Given the description of an element on the screen output the (x, y) to click on. 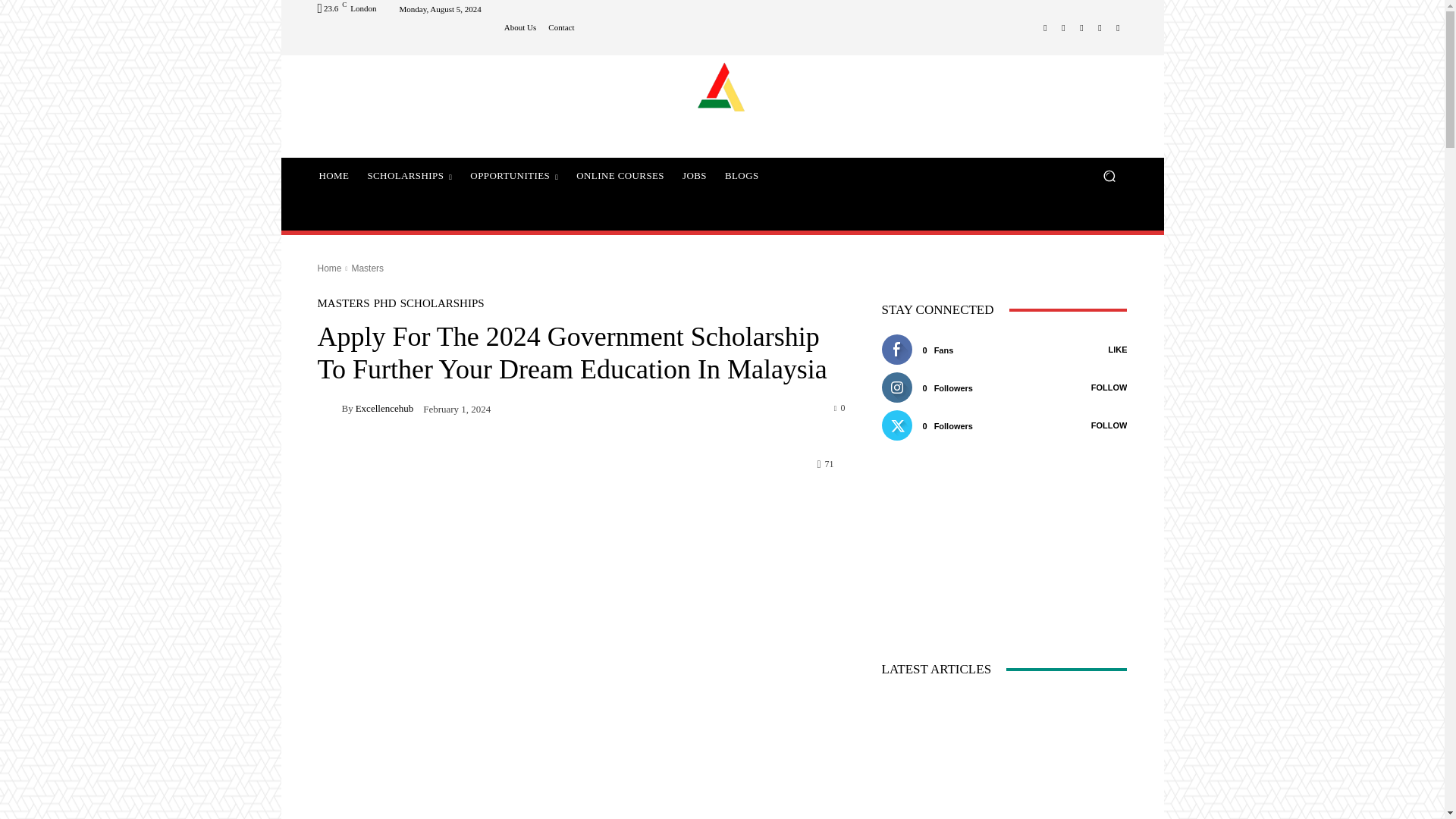
Twitter (1099, 27)
excellencehub (328, 407)
Instagram (1062, 27)
JOBS (694, 176)
ONLINE COURSES (619, 176)
SCHOLARSHIPS (409, 176)
OPPORTUNITIES (514, 176)
Contact (560, 27)
Facebook (1044, 27)
HOME (333, 176)
